Given the description of an element on the screen output the (x, y) to click on. 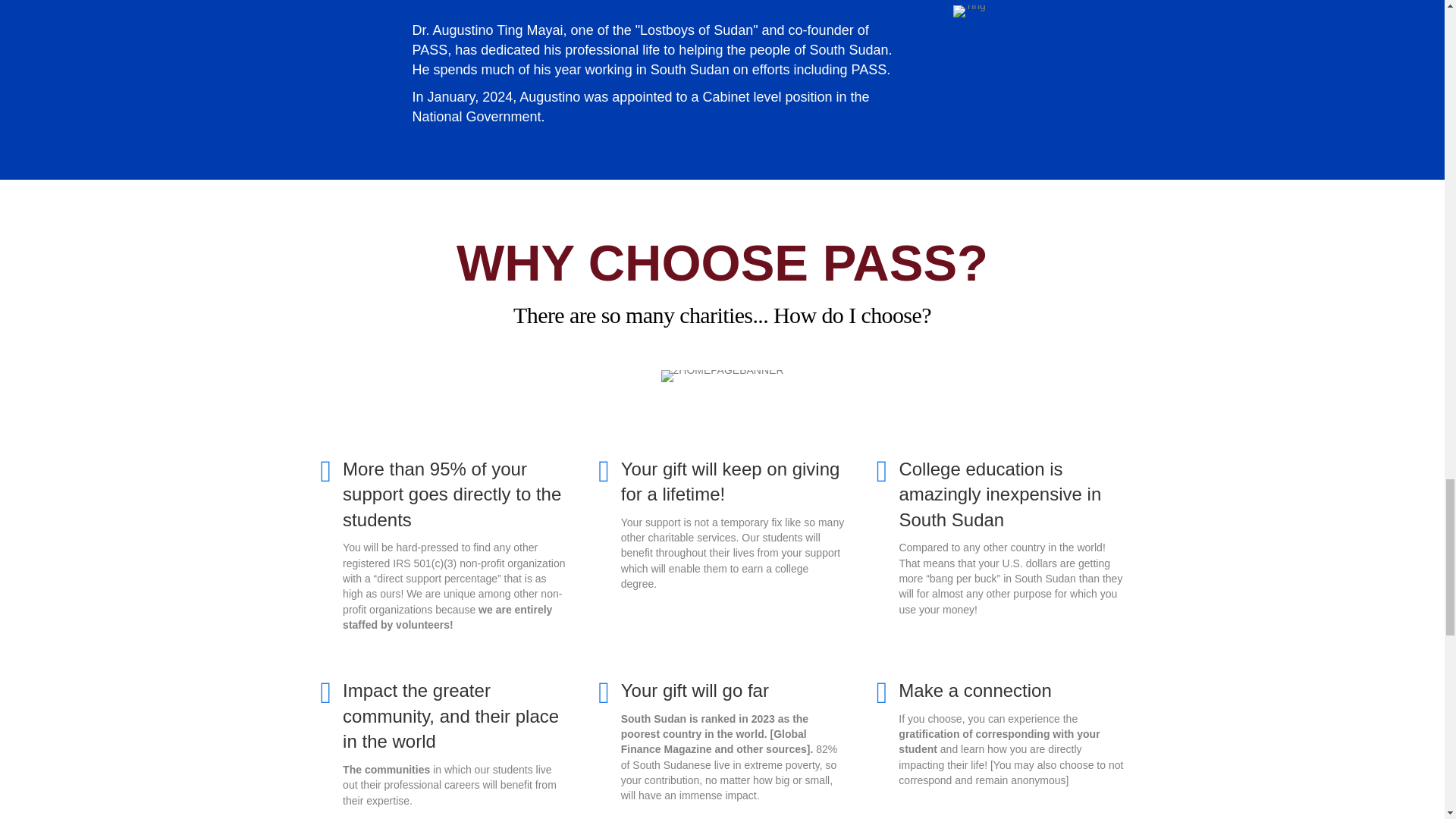
Ting (969, 10)
2HOMEPAGEBANNER (722, 376)
